Given the description of an element on the screen output the (x, y) to click on. 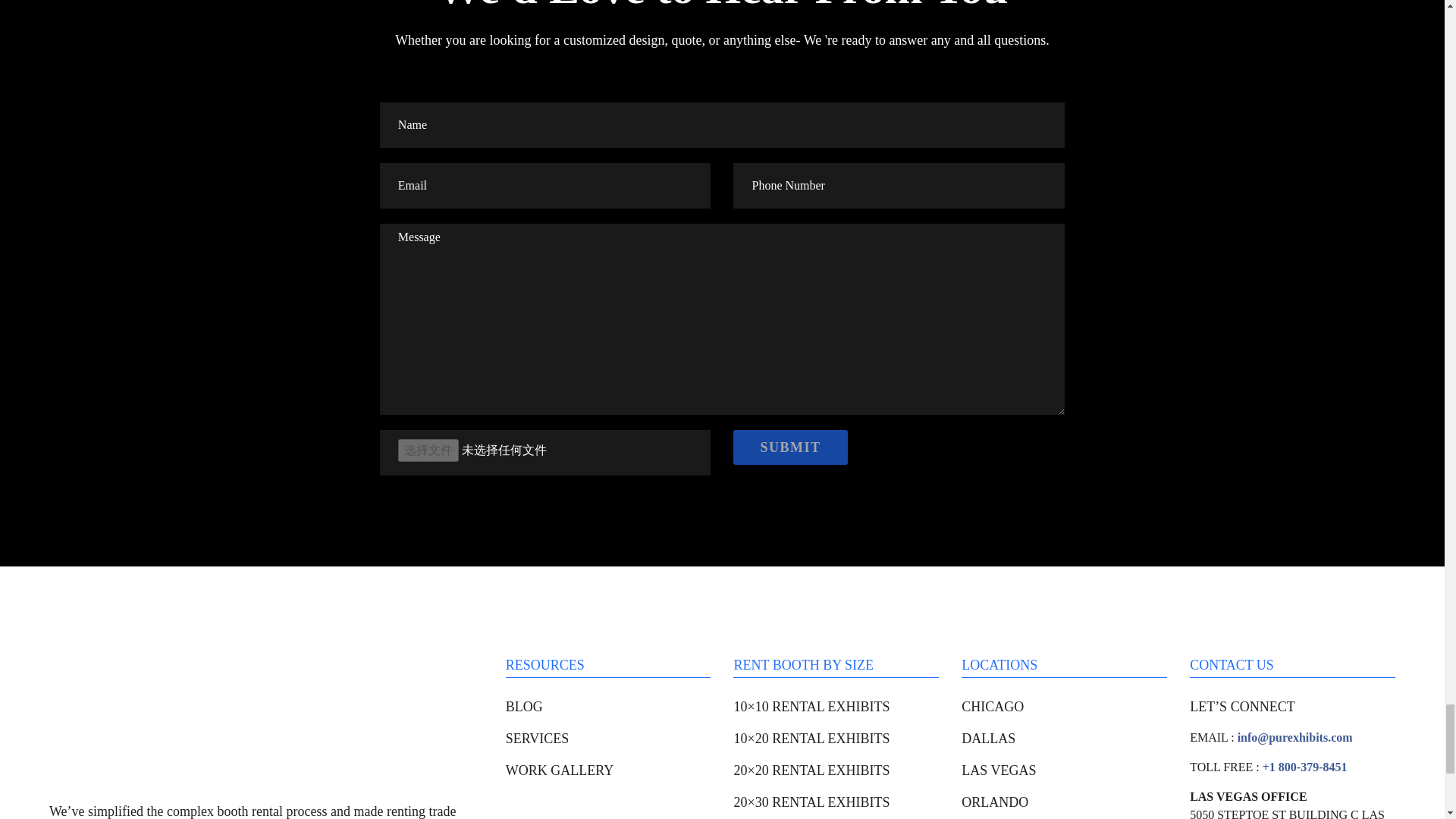
Home (162, 712)
SUBMIT (790, 447)
